Given the description of an element on the screen output the (x, y) to click on. 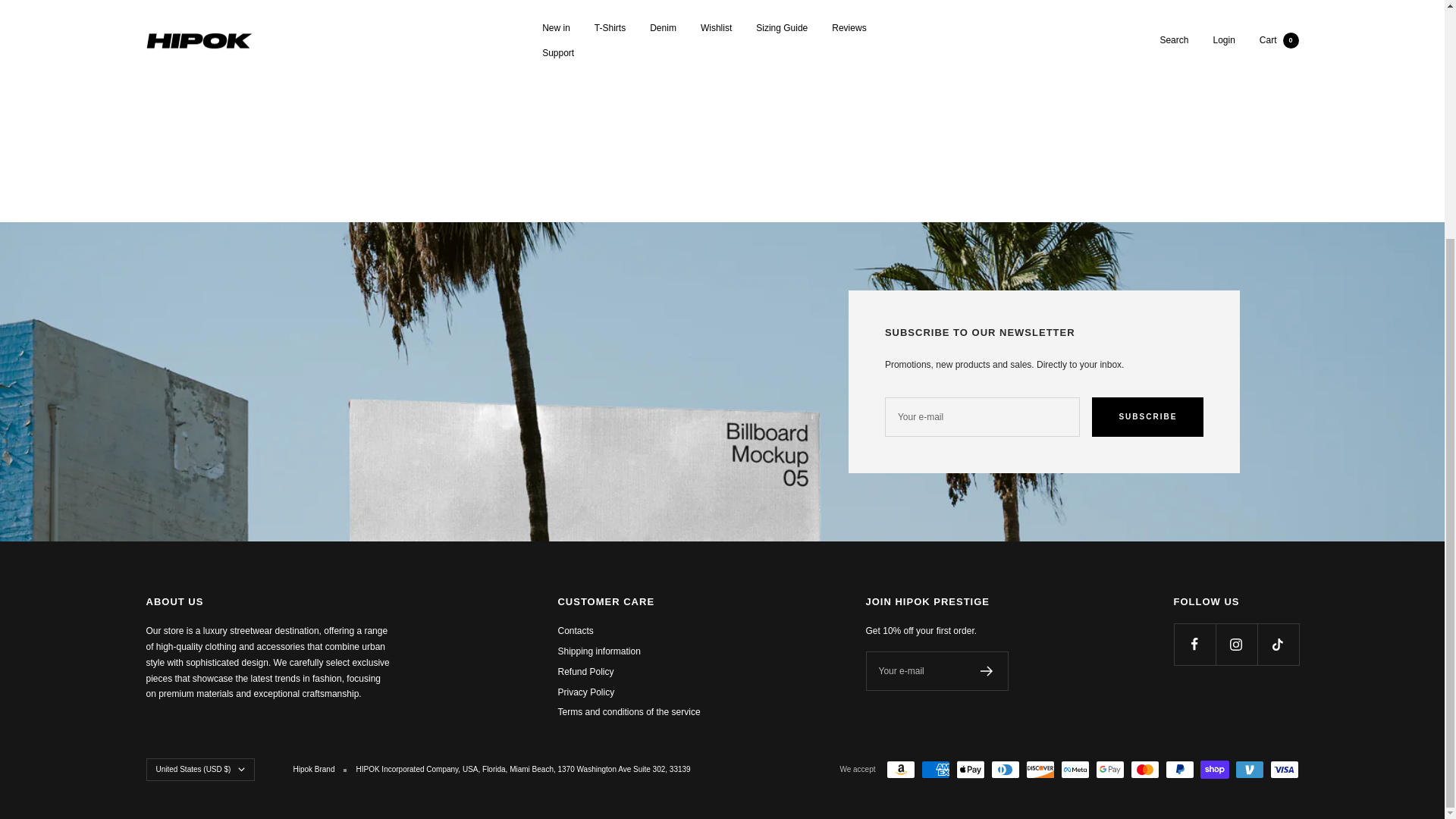
SUBSCRIBE (1148, 416)
Terms and conditions of the service (628, 712)
BACK TO HOME (721, 31)
AF (200, 456)
AL (200, 487)
Shipping information (598, 651)
Refund Policy (584, 672)
DZ (200, 502)
AX (200, 471)
Privacy Policy (585, 692)
